Given the description of an element on the screen output the (x, y) to click on. 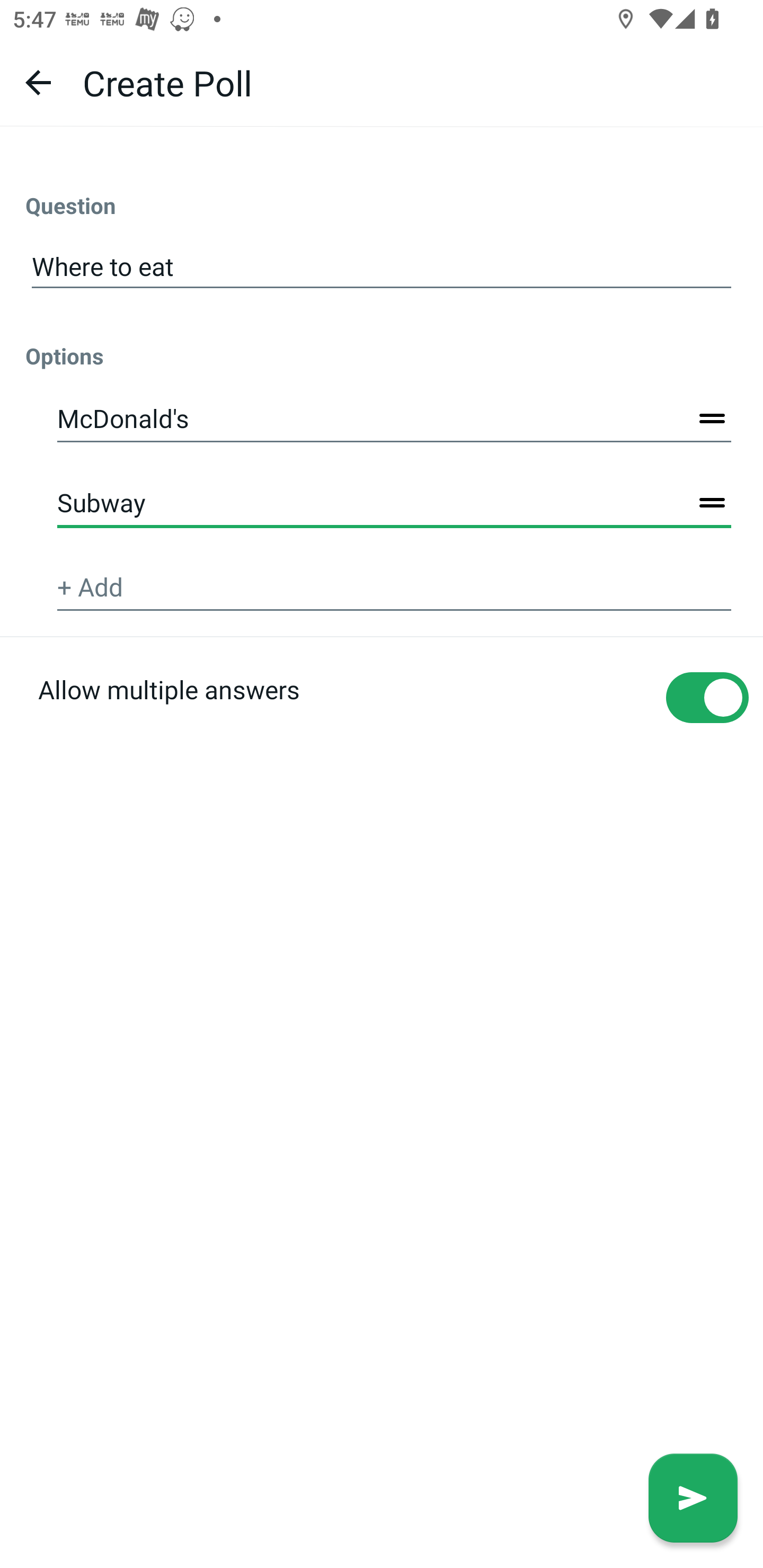
Navigate up (38, 82)
Where to eat (381, 267)
McDonald's (394, 419)
Subway (394, 503)
+ Add (394, 587)
Allow multiple answers (381, 729)
Send (692, 1497)
